Given the description of an element on the screen output the (x, y) to click on. 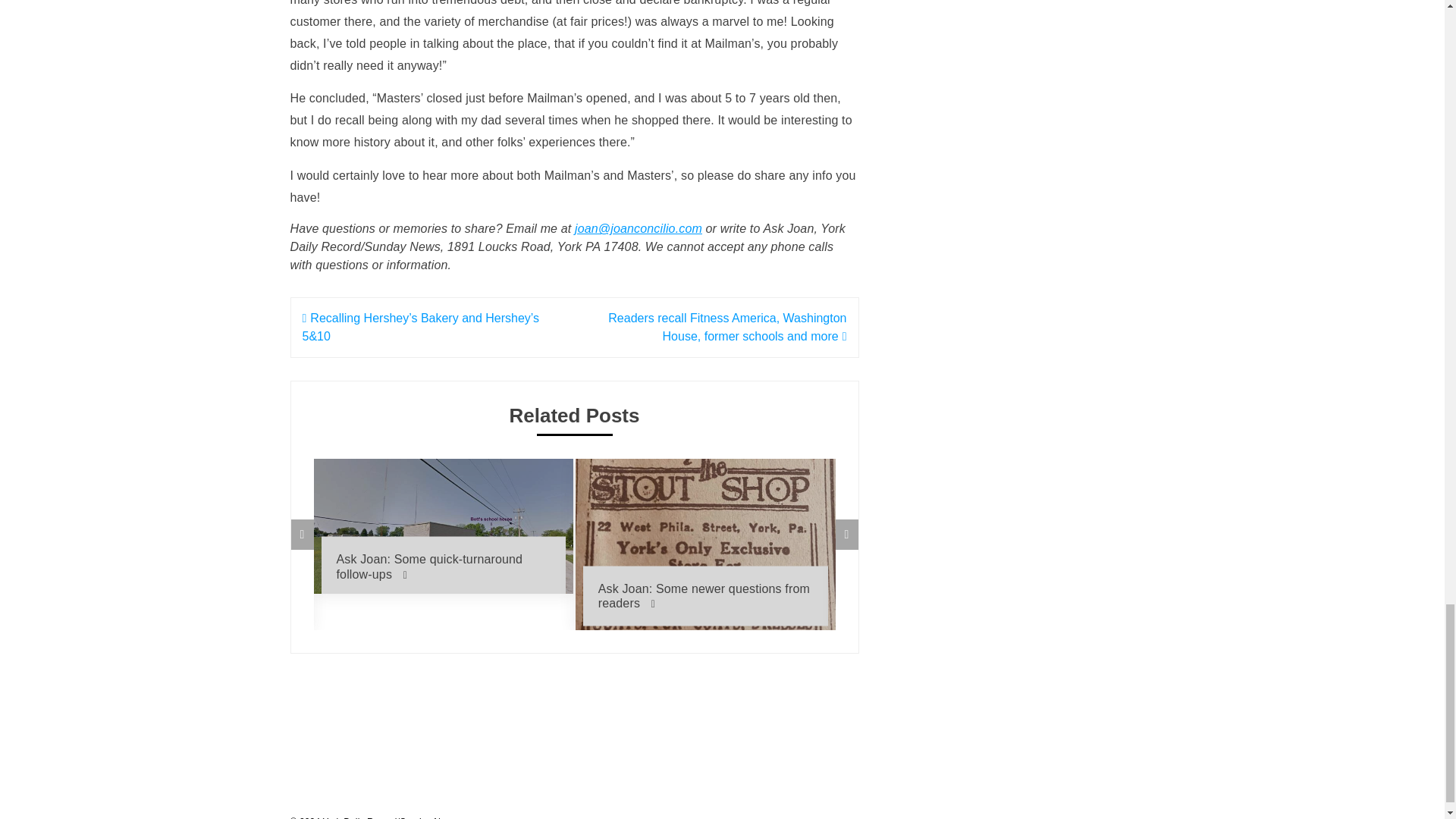
Ask Joan: Some newer questions from readers (705, 595)
Ask Joan: Some quick-turnaround follow-ups (443, 566)
